Given the description of an element on the screen output the (x, y) to click on. 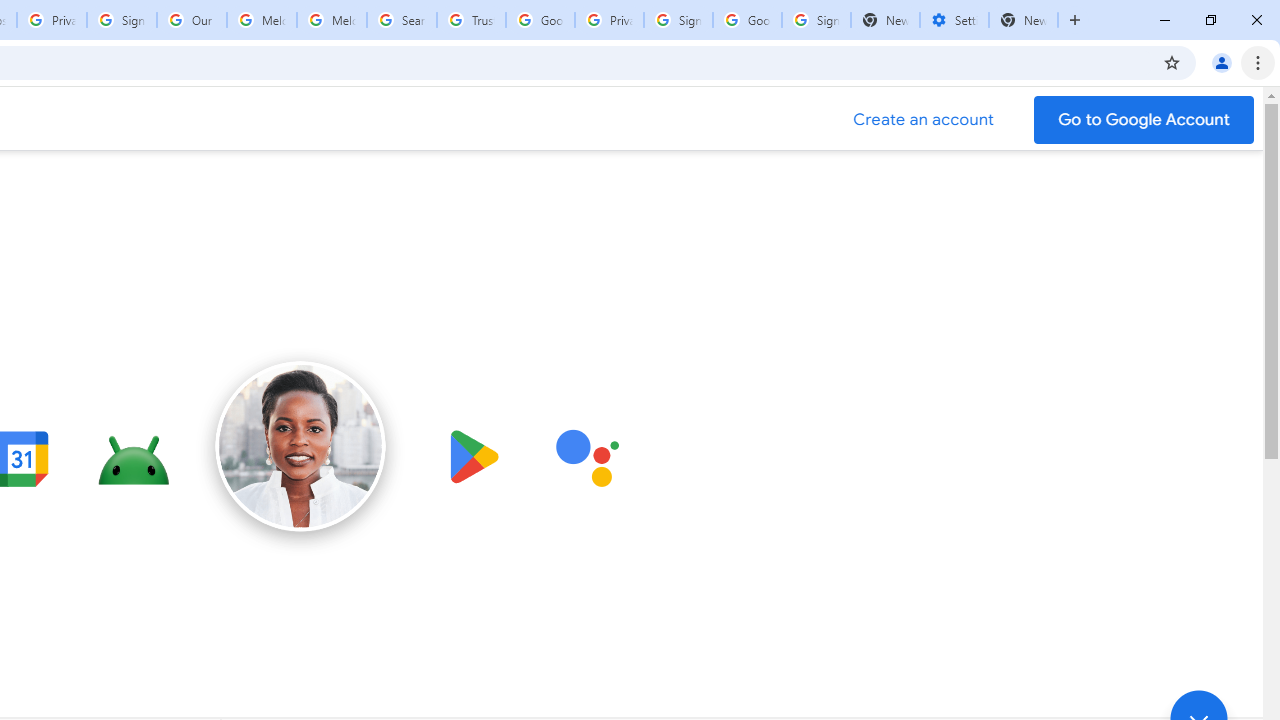
Go to your Google Account (1144, 119)
Create a Google Account (923, 119)
Google Cybersecurity Innovations - Google Safety Center (747, 20)
Trusted Information and Content - Google Safety Center (470, 20)
Google Ads - Sign in (539, 20)
